Given the description of an element on the screen output the (x, y) to click on. 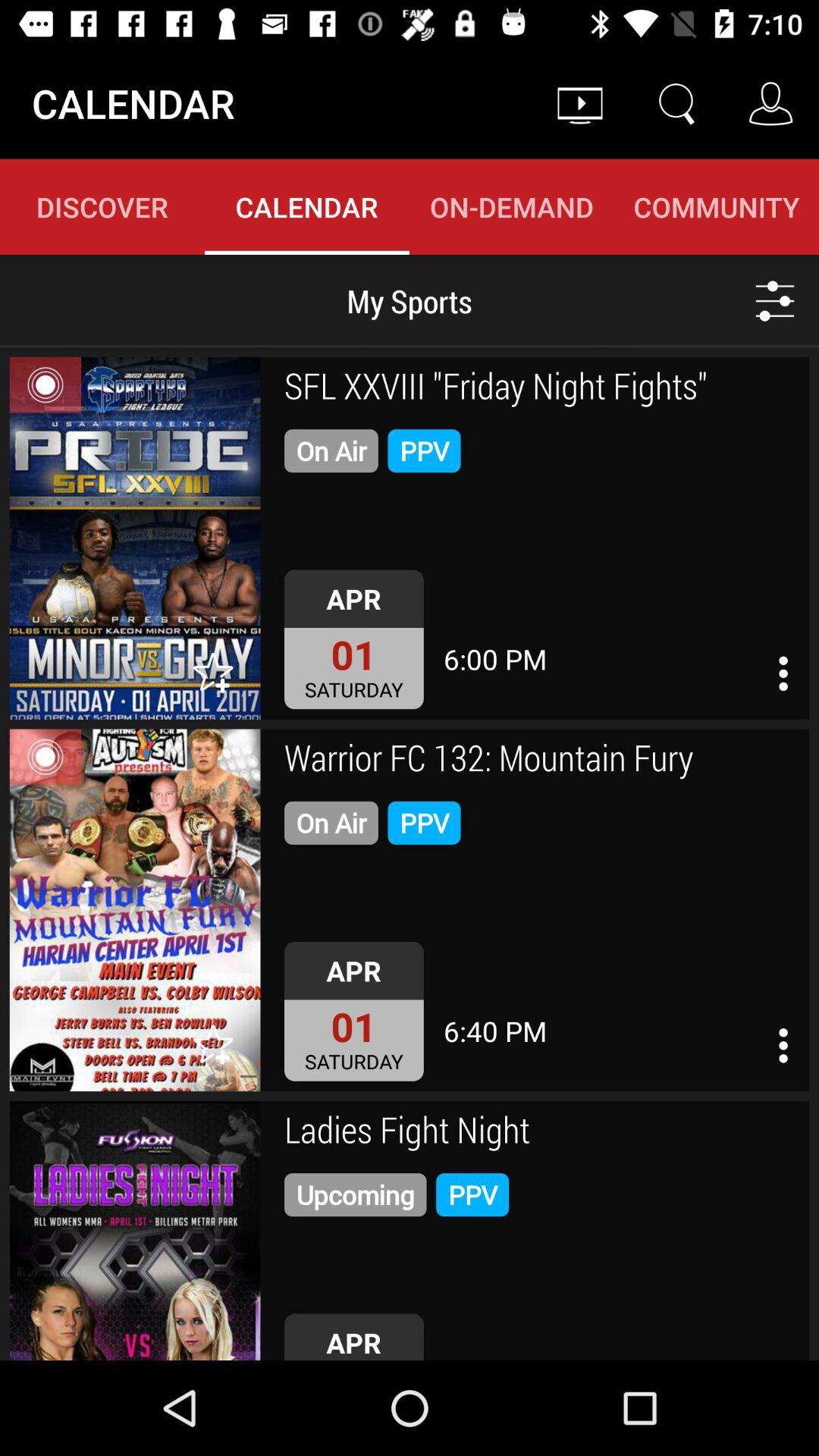
jump to warrior fc 132 (541, 760)
